Given the description of an element on the screen output the (x, y) to click on. 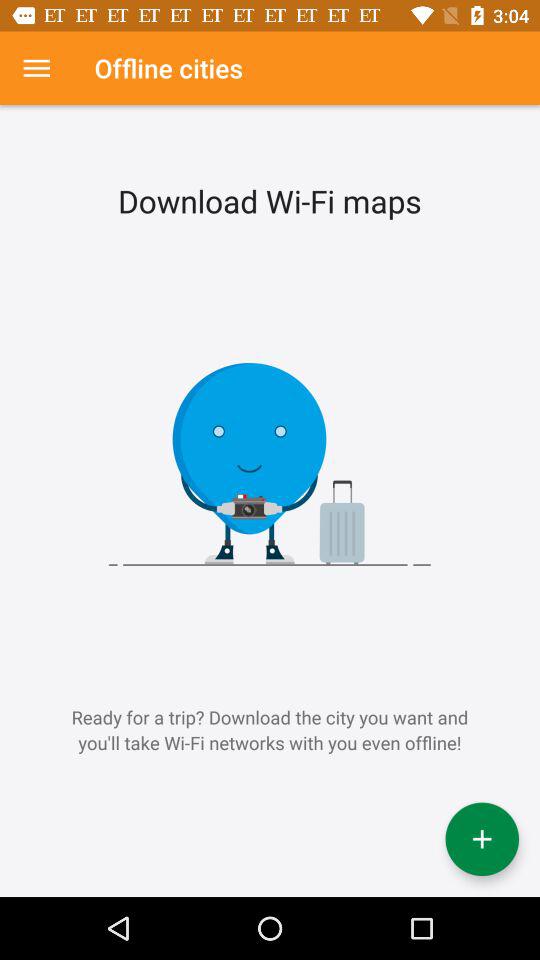
click item above ready for a (36, 68)
